Given the description of an element on the screen output the (x, y) to click on. 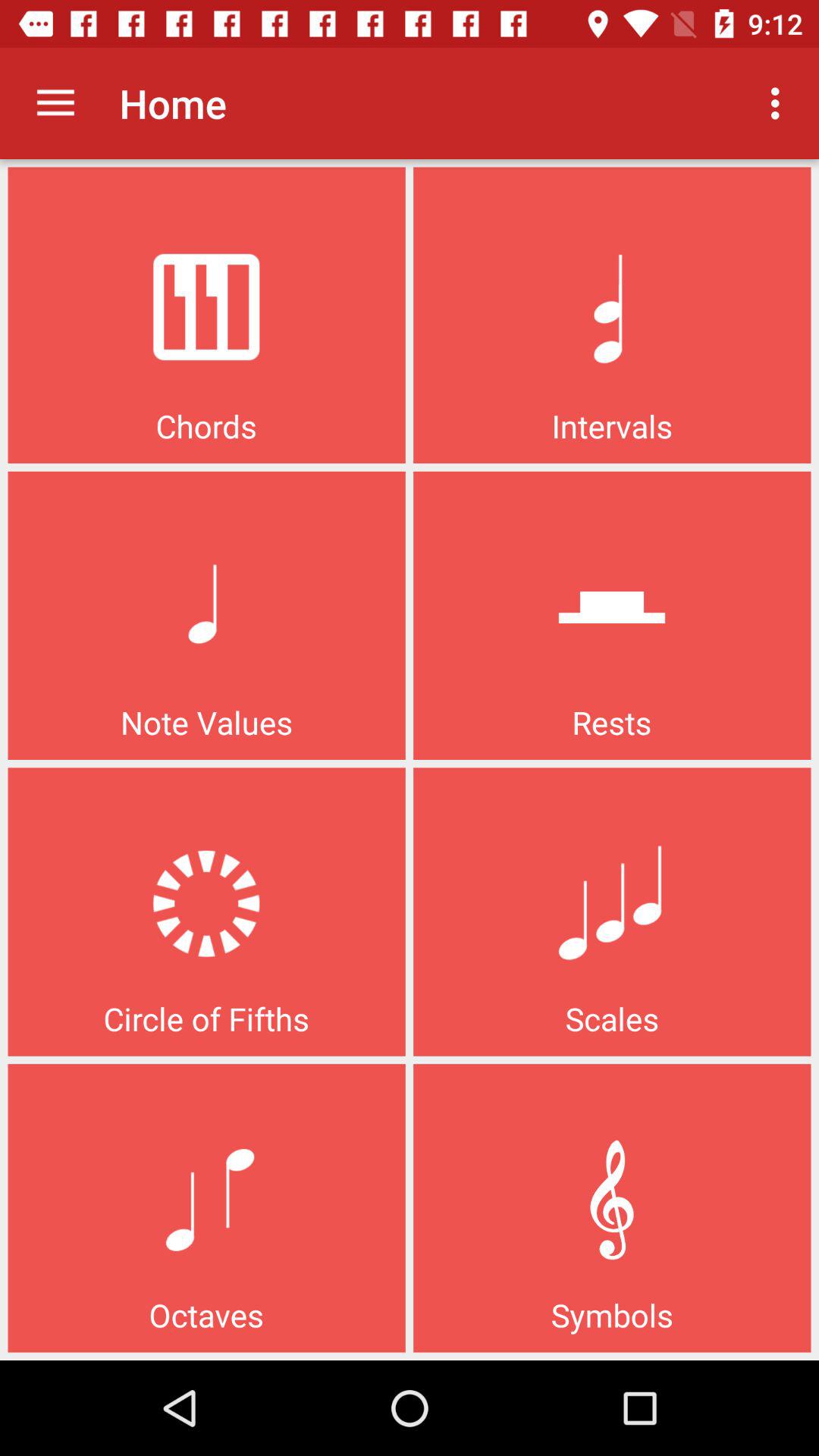
turn off app next to home icon (779, 103)
